Given the description of an element on the screen output the (x, y) to click on. 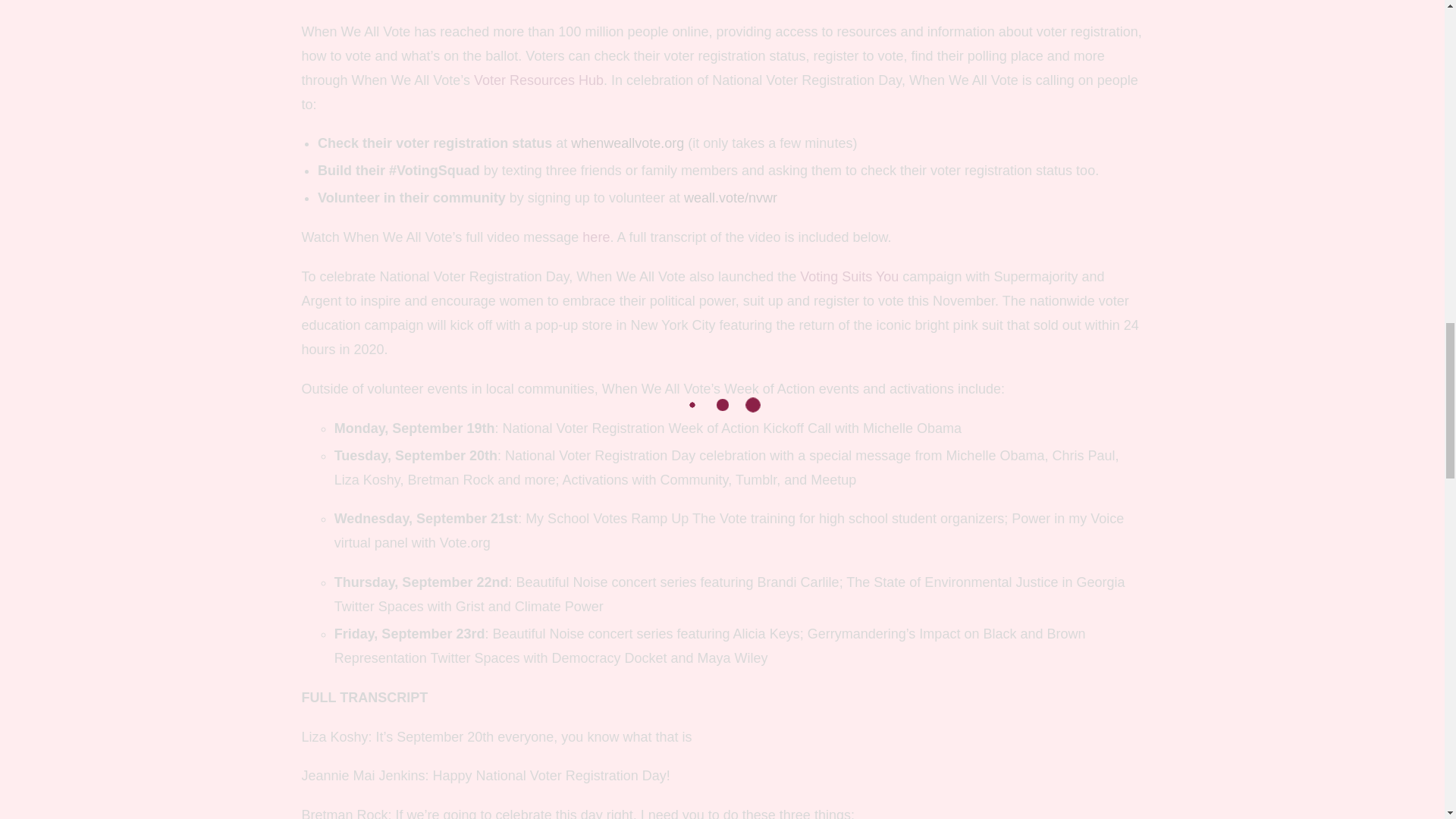
whenweallvote.org (627, 142)
Voter Resources Hub (539, 79)
